Given the description of an element on the screen output the (x, y) to click on. 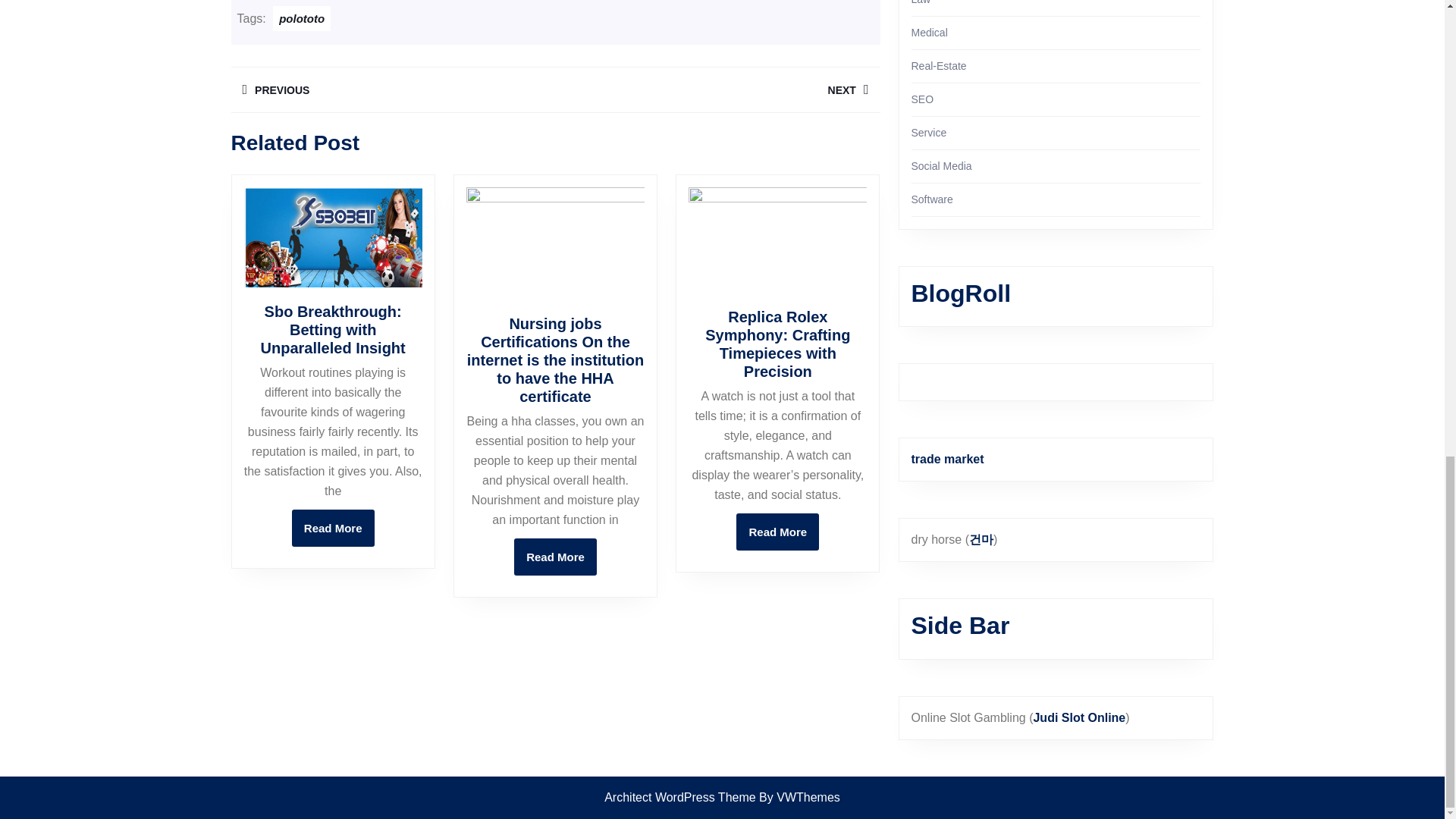
polototo (301, 18)
Law (716, 89)
